Given the description of an element on the screen output the (x, y) to click on. 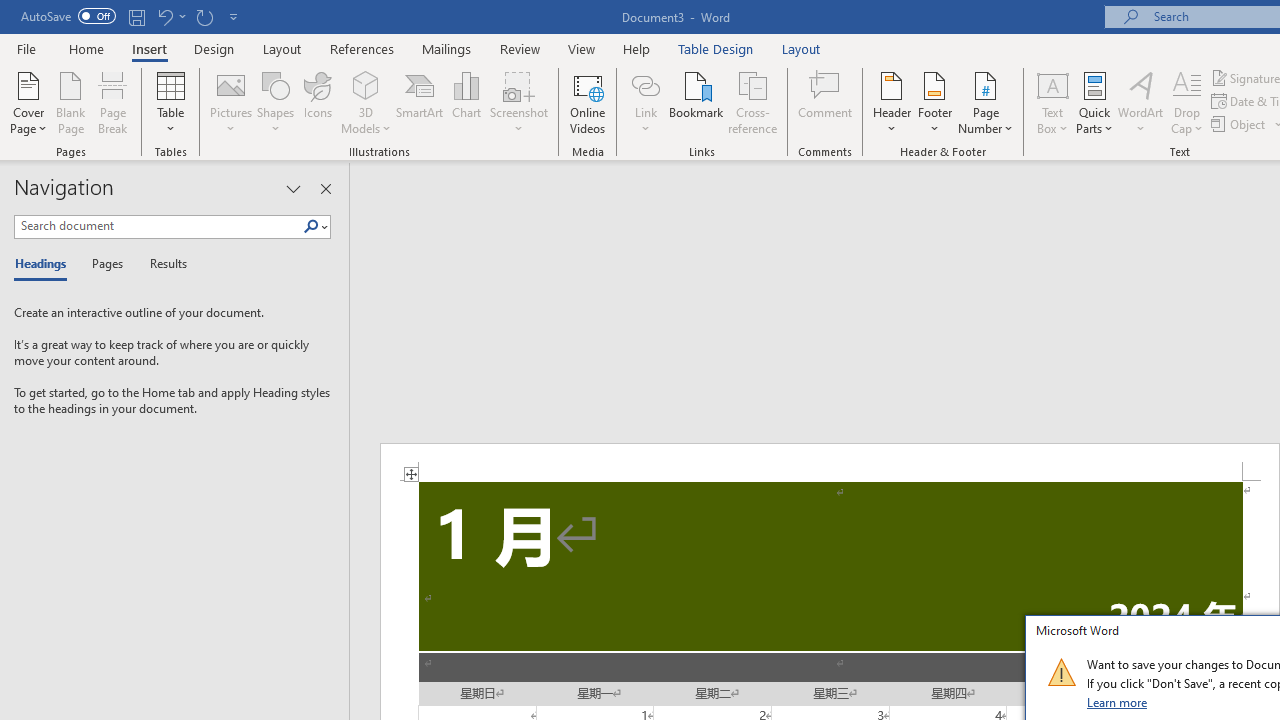
Customize Quick Access Toolbar (234, 15)
Text Box (1052, 102)
Cross-reference... (752, 102)
References (362, 48)
Quick Parts (1094, 102)
Layout (801, 48)
Undo Increase Indent (164, 15)
Help (637, 48)
Link (645, 84)
Header -Section 1- (830, 461)
Table (170, 102)
Insert (149, 48)
